Given the description of an element on the screen output the (x, y) to click on. 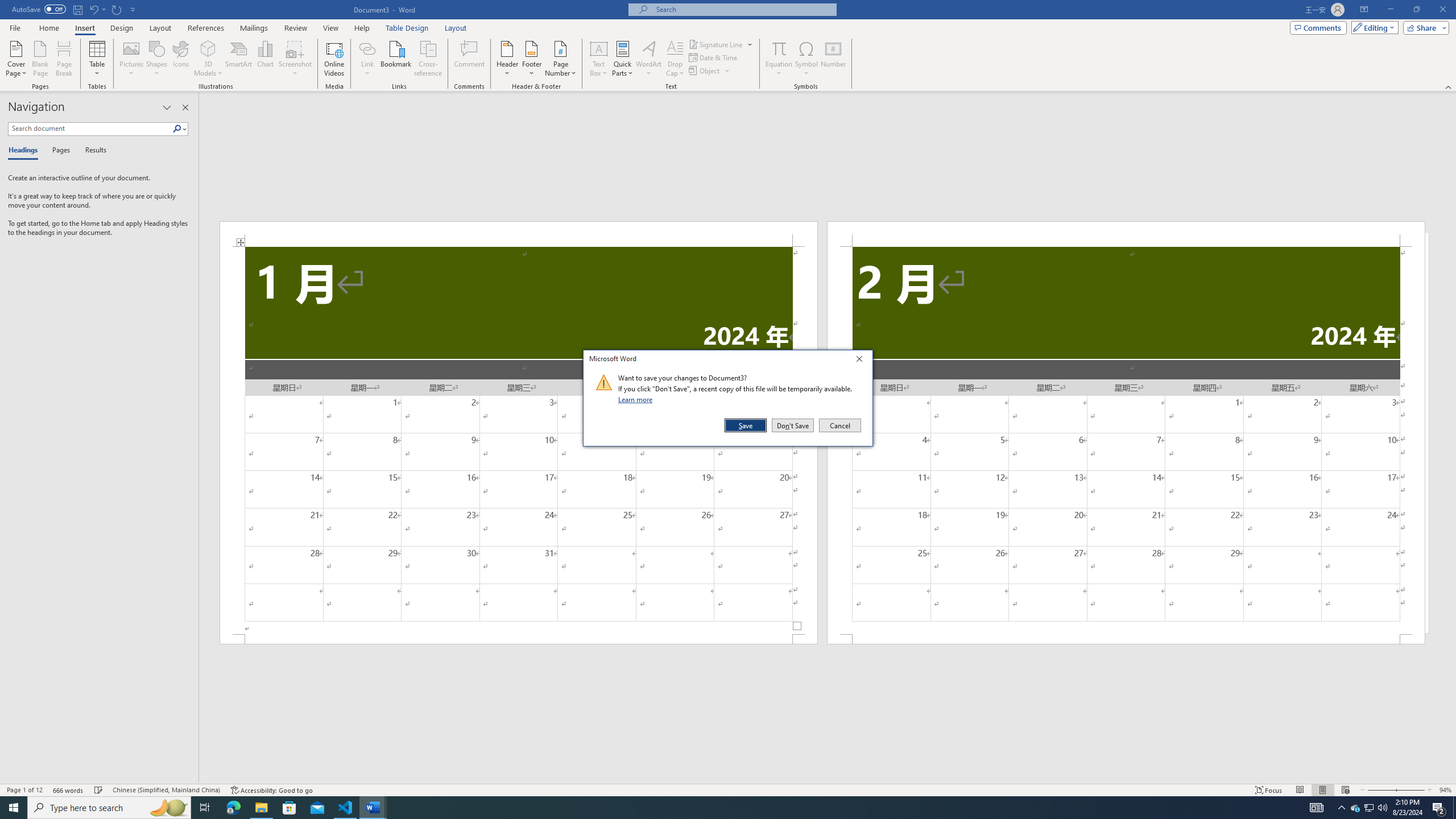
Undo Increase Indent (92, 9)
Signature Line (721, 44)
Header (507, 58)
